Given the description of an element on the screen output the (x, y) to click on. 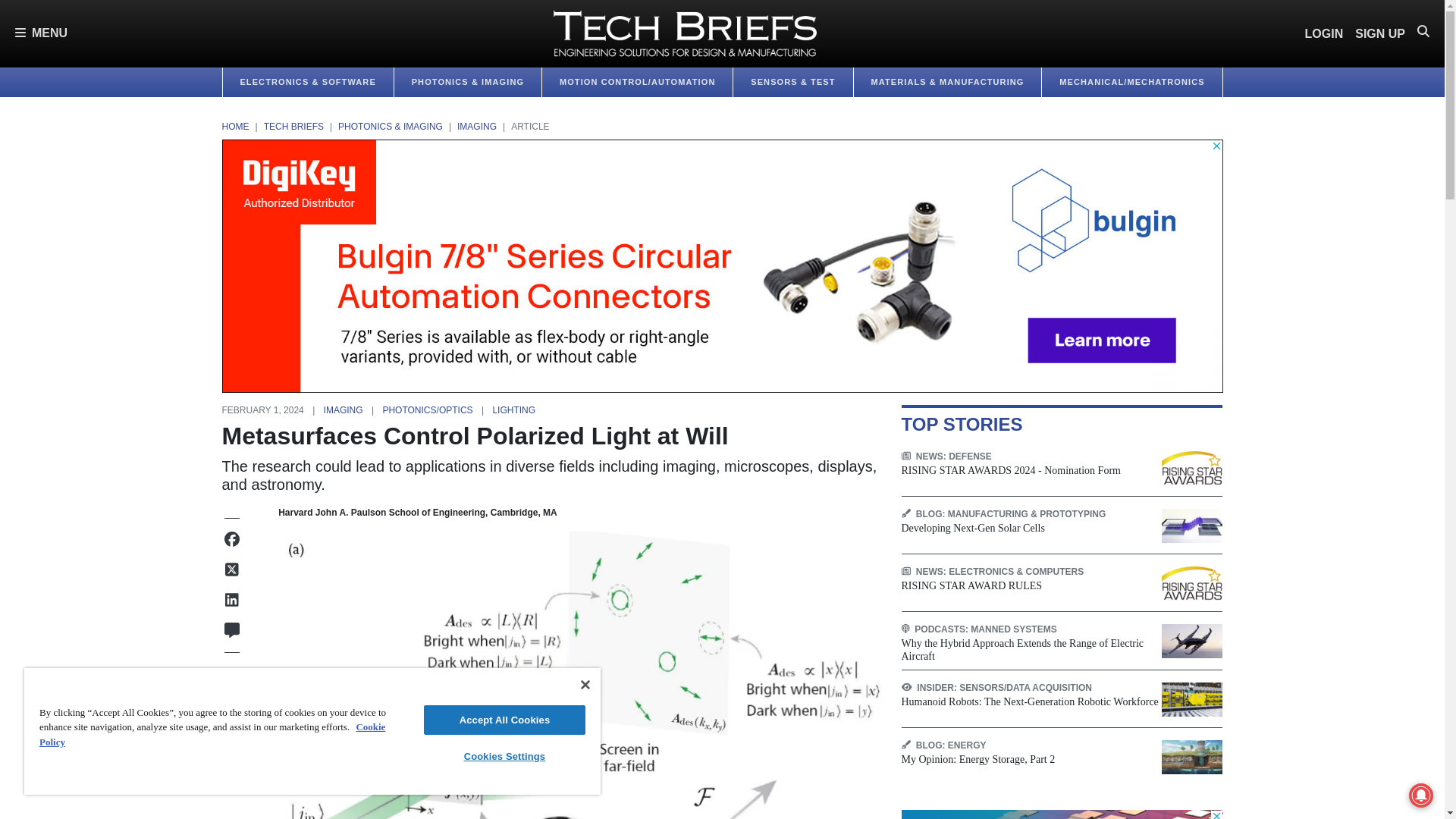
MENU (41, 33)
LOGIN (1323, 32)
SIGN UP (1379, 32)
3rd party ad content (1062, 814)
